Given the description of an element on the screen output the (x, y) to click on. 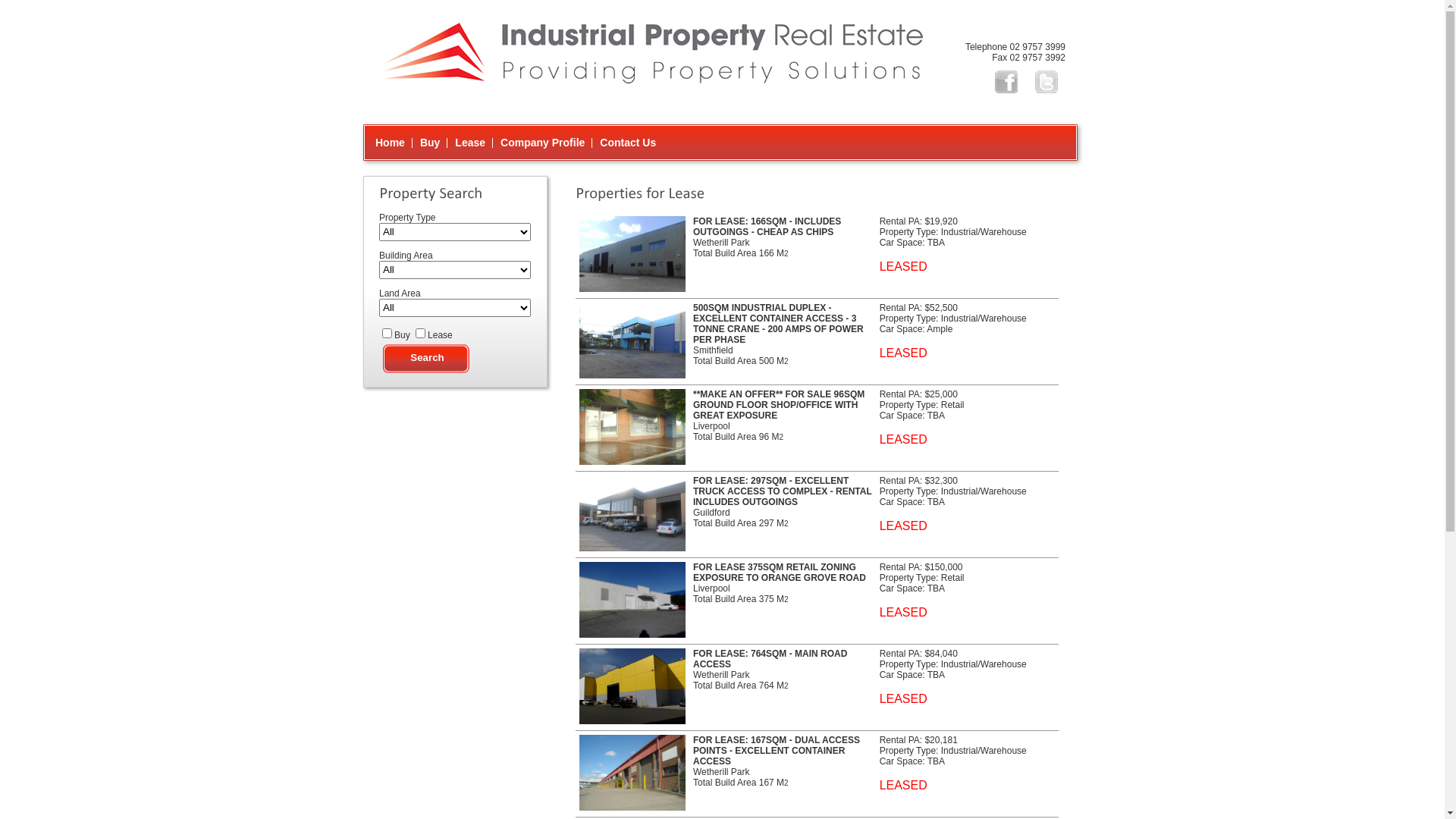
Contact Us Element type: text (627, 142)
Search Element type: text (427, 358)
Search Element type: hover (427, 358)
Lease Element type: text (469, 142)
Company Profile Element type: text (542, 142)
Buy Element type: text (429, 142)
Home Element type: text (389, 142)
